Given the description of an element on the screen output the (x, y) to click on. 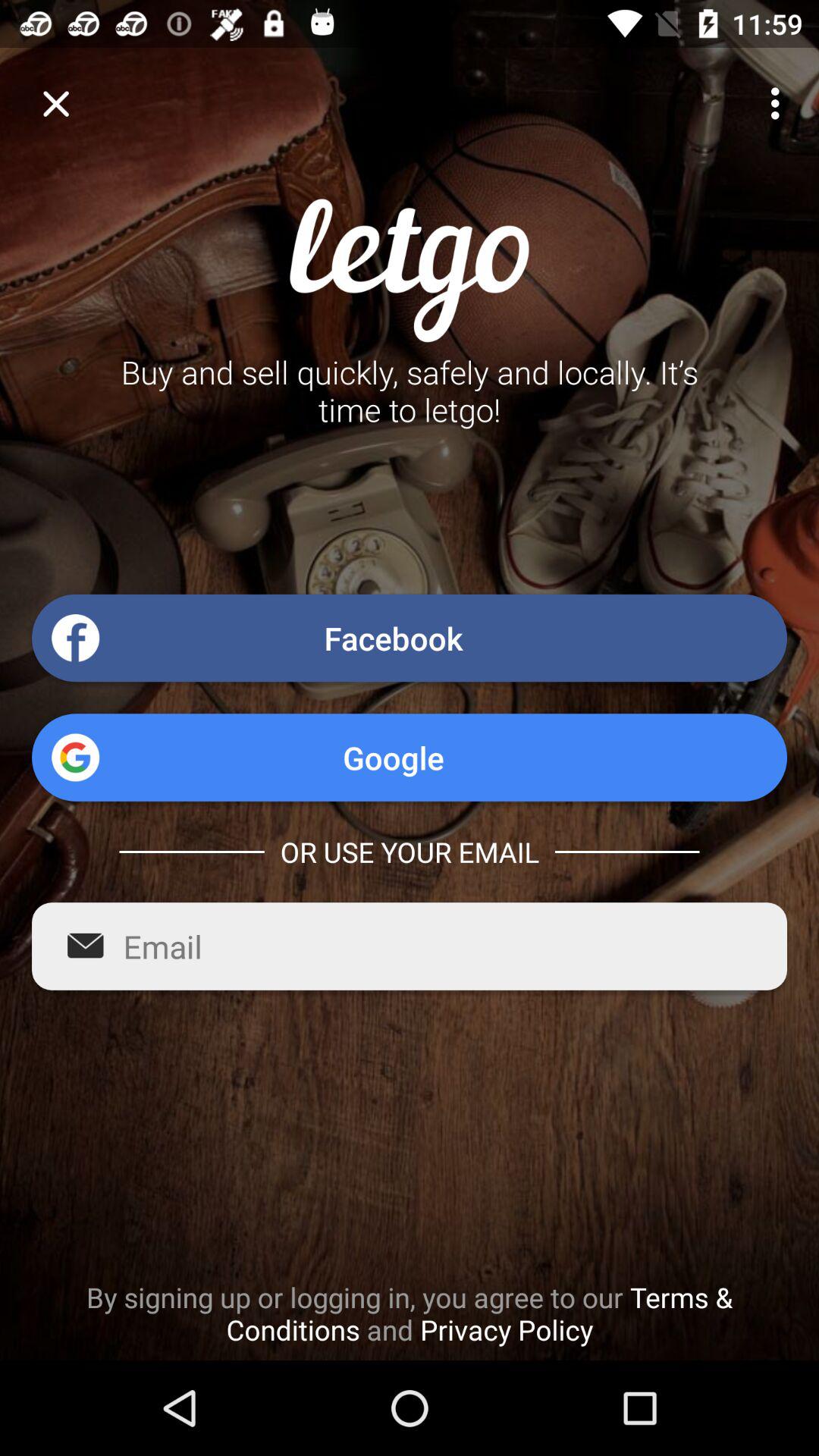
launch the by signing up icon (409, 1313)
